Given the description of an element on the screen output the (x, y) to click on. 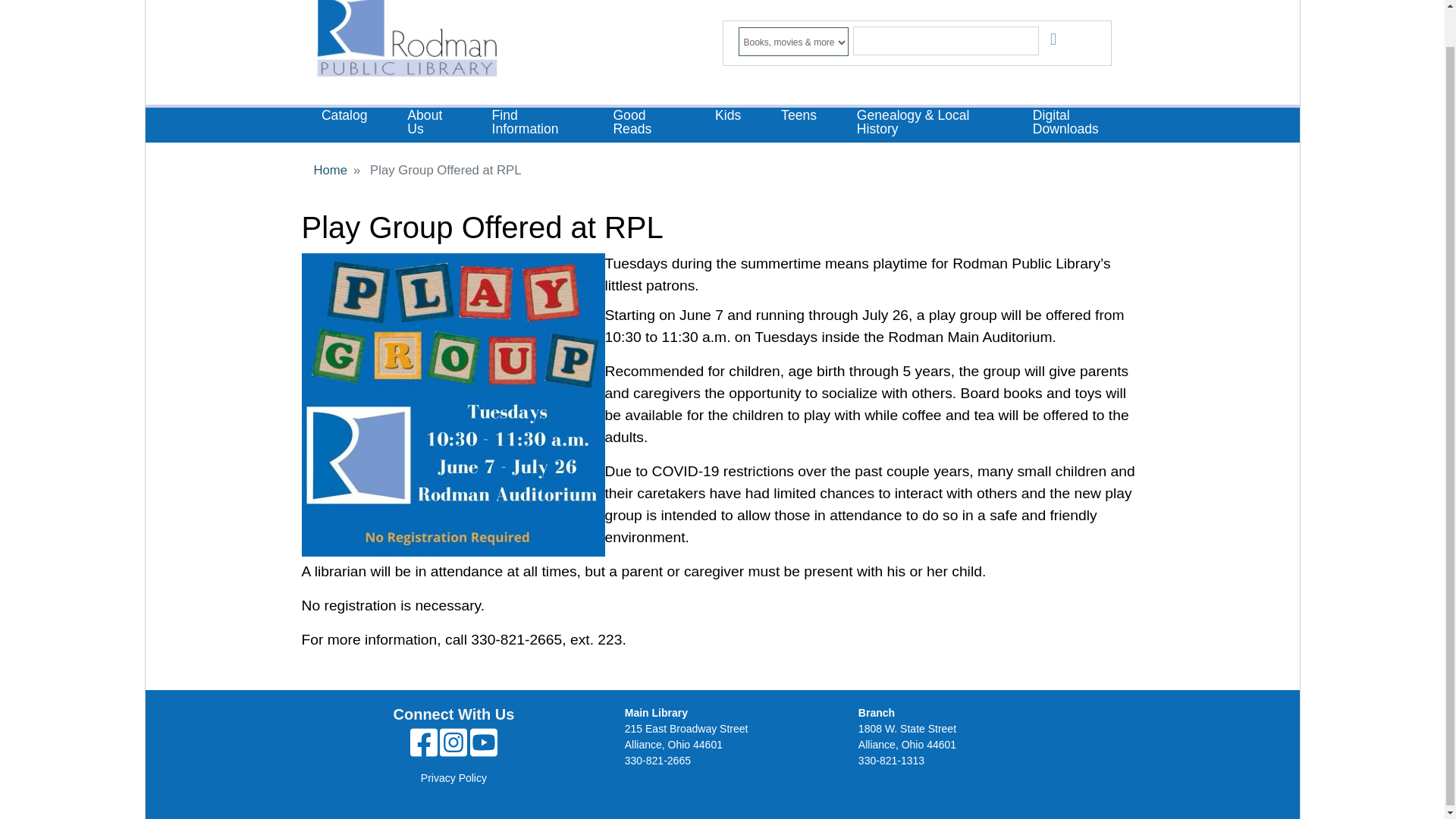
Good Reads (643, 122)
Find Information (531, 122)
Home (405, 43)
Catalog (344, 116)
Find Information (531, 122)
Kids (728, 116)
About Us (429, 122)
Good Reads (643, 122)
Kids (728, 116)
